Given the description of an element on the screen output the (x, y) to click on. 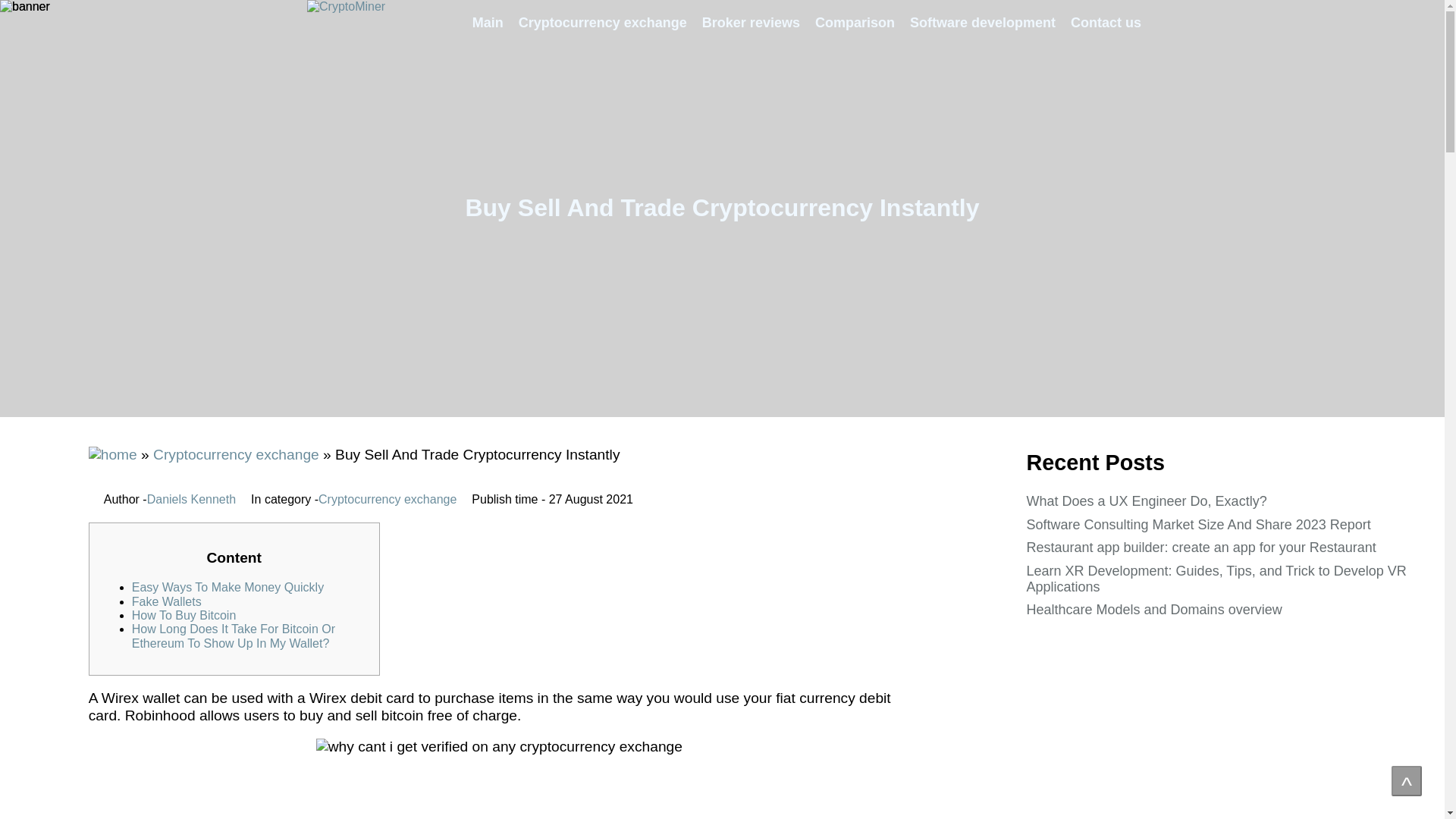
Cryptocurrency exchange (235, 454)
Main (487, 22)
Cryptocurrency exchange (387, 499)
Broker reviews (751, 22)
Contact us (1105, 22)
Software development (982, 22)
Comparison (855, 22)
Cryptocurrency exchange (602, 22)
Go to top (1406, 780)
How To Buy Bitcoin (183, 615)
Easy Ways To Make Money Quickly (227, 586)
Daniels Kenneth (191, 499)
Fake Wallets (167, 601)
